Given the description of an element on the screen output the (x, y) to click on. 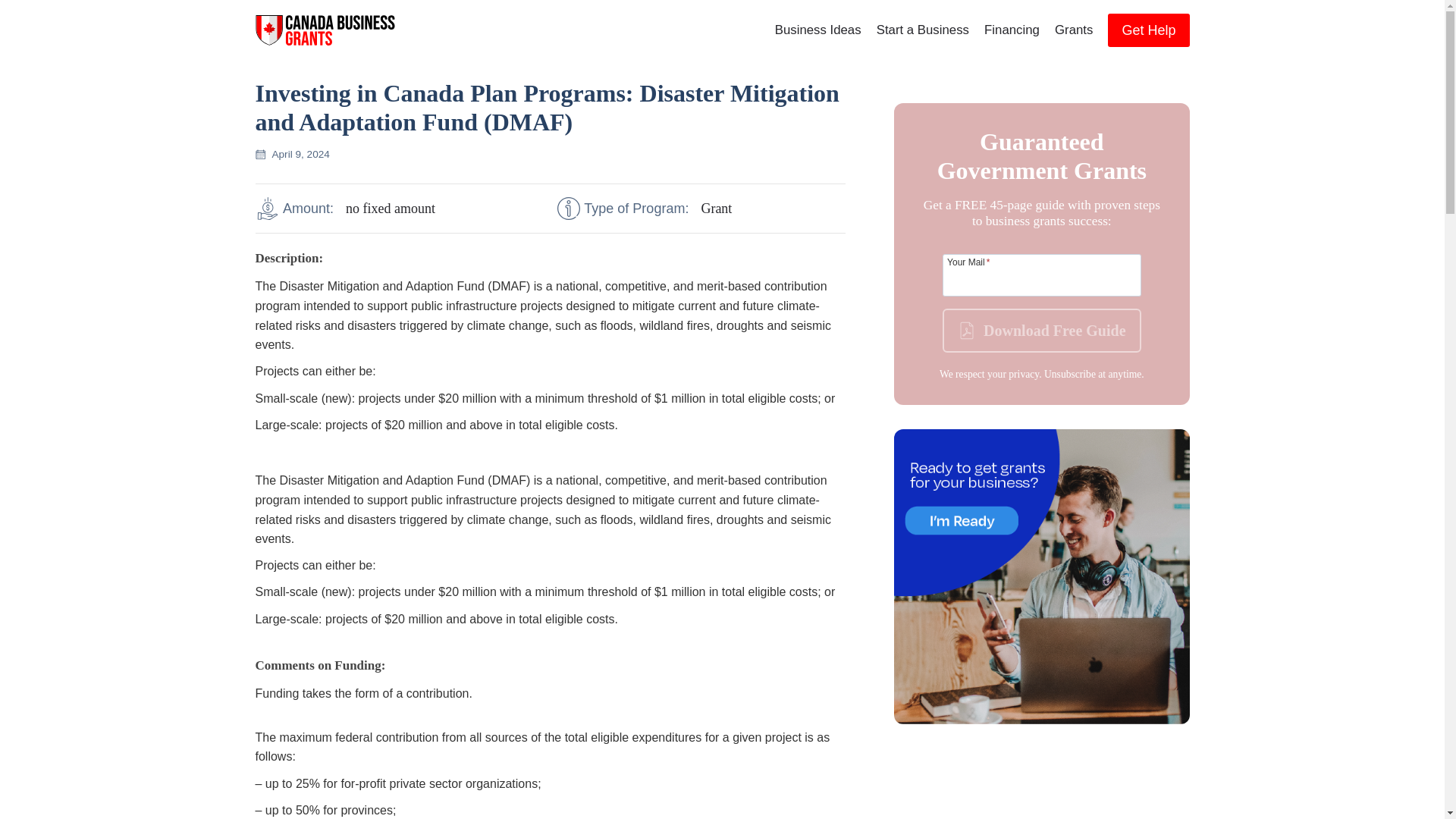
Business Ideas (818, 30)
Download Free Guide (1041, 330)
Financing (1011, 30)
Start a Business (922, 30)
Grants (1073, 30)
Get Help (1148, 29)
